Given the description of an element on the screen output the (x, y) to click on. 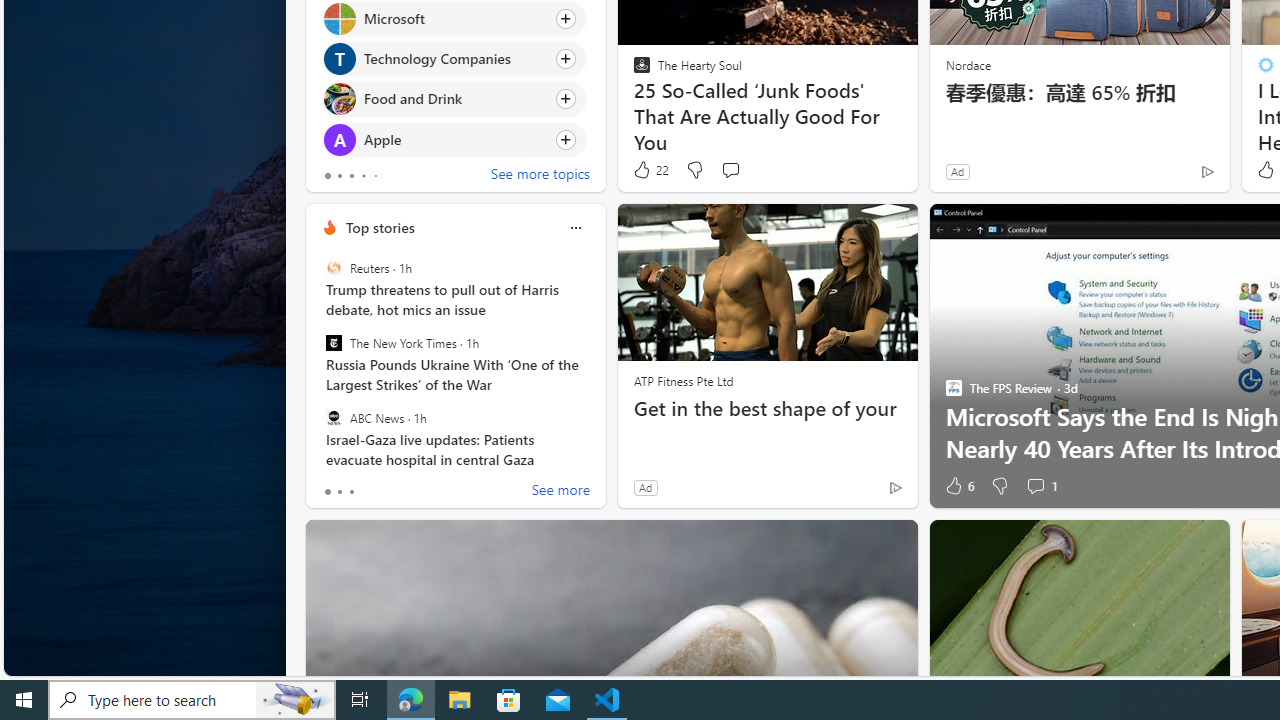
6 Like (957, 485)
Top stories (379, 227)
ABC News (333, 417)
Food and Drink (338, 98)
tab-2 (351, 491)
22 Like (650, 170)
